Given the description of an element on the screen output the (x, y) to click on. 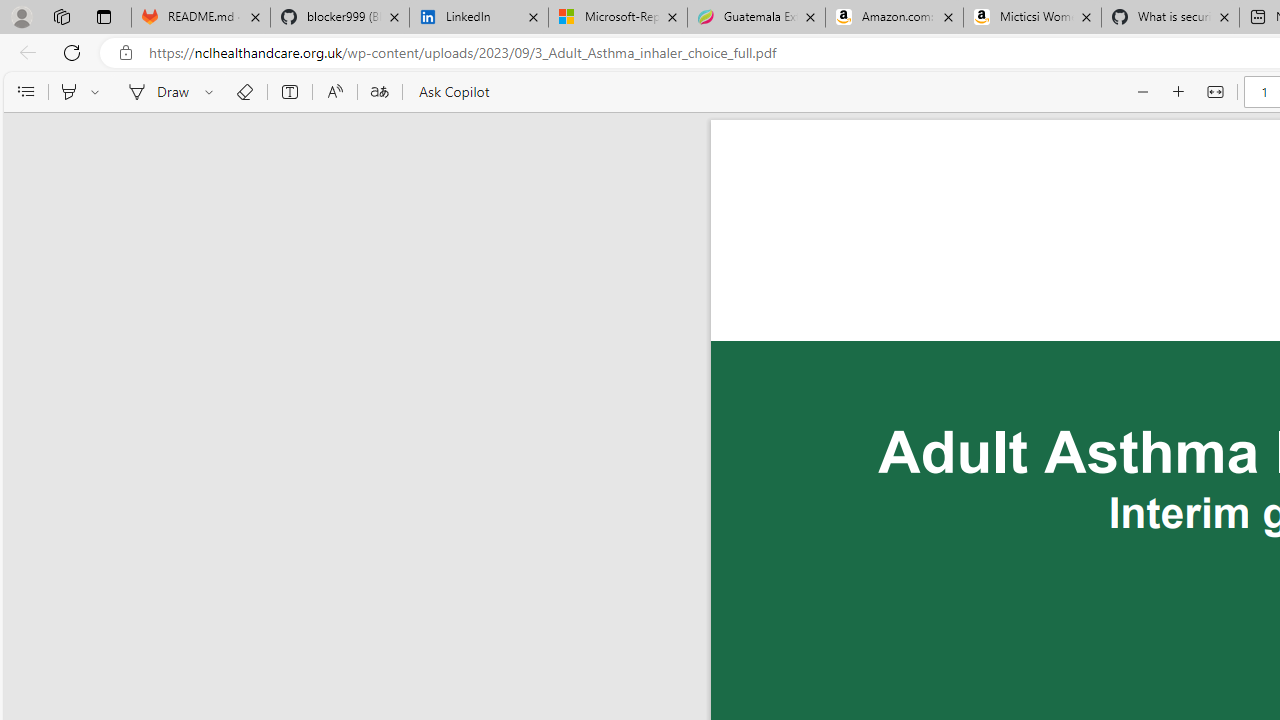
Fit to width (Ctrl+\) (1214, 92)
Add text (289, 92)
Zoom out (Ctrl+Minus key) (1143, 92)
Select ink properties (212, 92)
Highlight (68, 92)
Draw (155, 92)
Ask Copilot (452, 92)
Read aloud (334, 92)
